Given the description of an element on the screen output the (x, y) to click on. 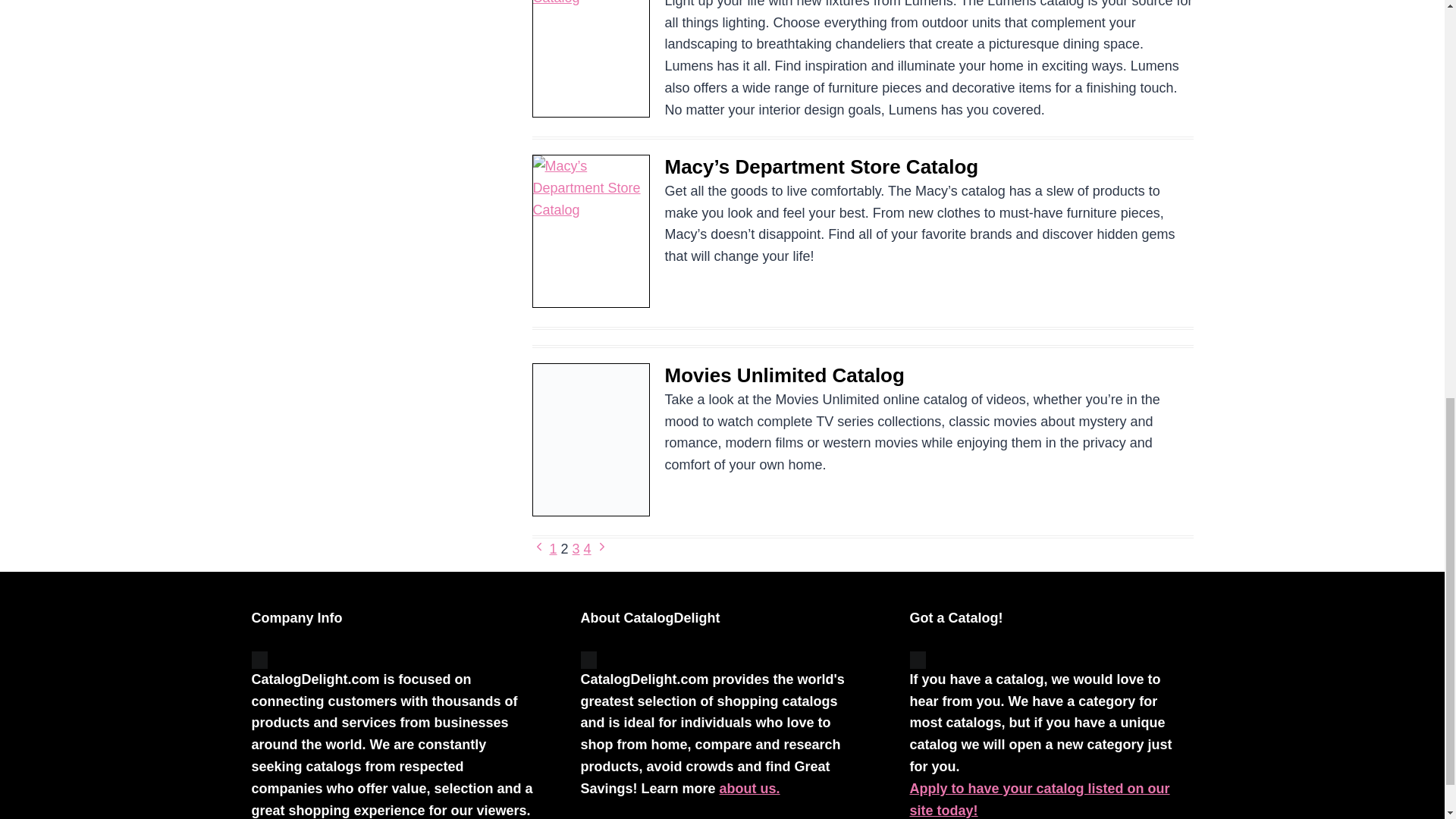
Next Page (601, 548)
Previous Page (539, 548)
Movies Unlimited Catalog (783, 374)
